Given the description of an element on the screen output the (x, y) to click on. 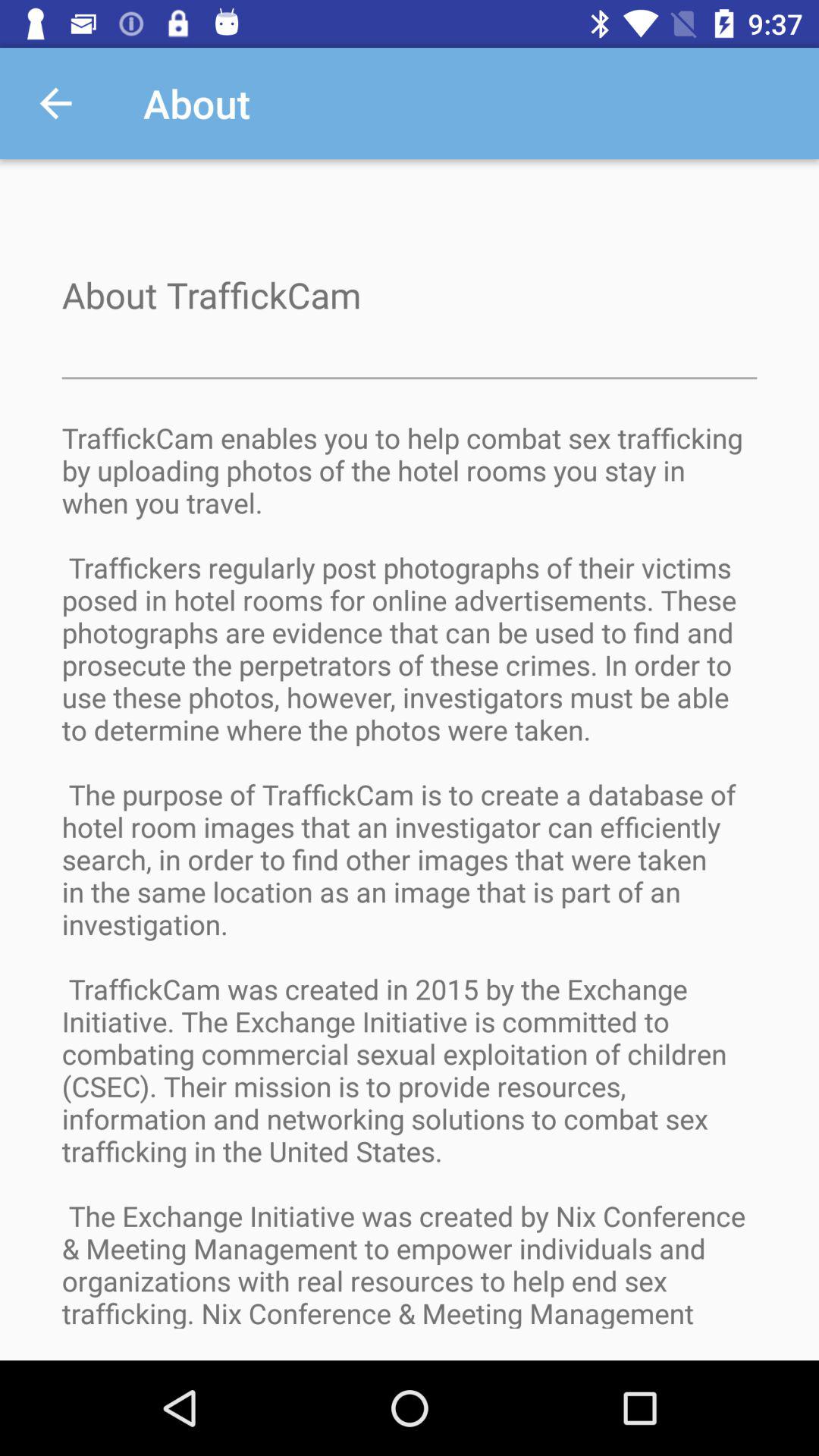
click the traffickcam enables you at the center (409, 889)
